Given the description of an element on the screen output the (x, y) to click on. 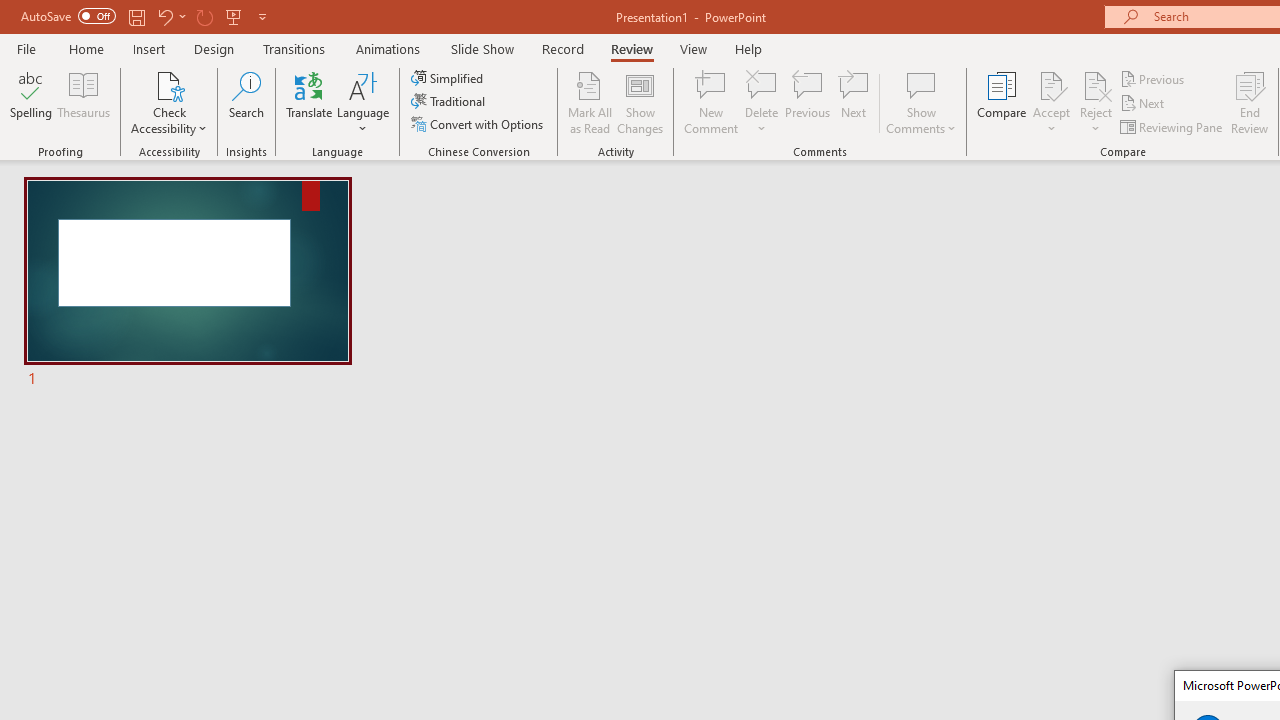
Compare (1002, 102)
Language (363, 102)
Reject (1096, 102)
Reviewing Pane (1172, 126)
